Given the description of an element on the screen output the (x, y) to click on. 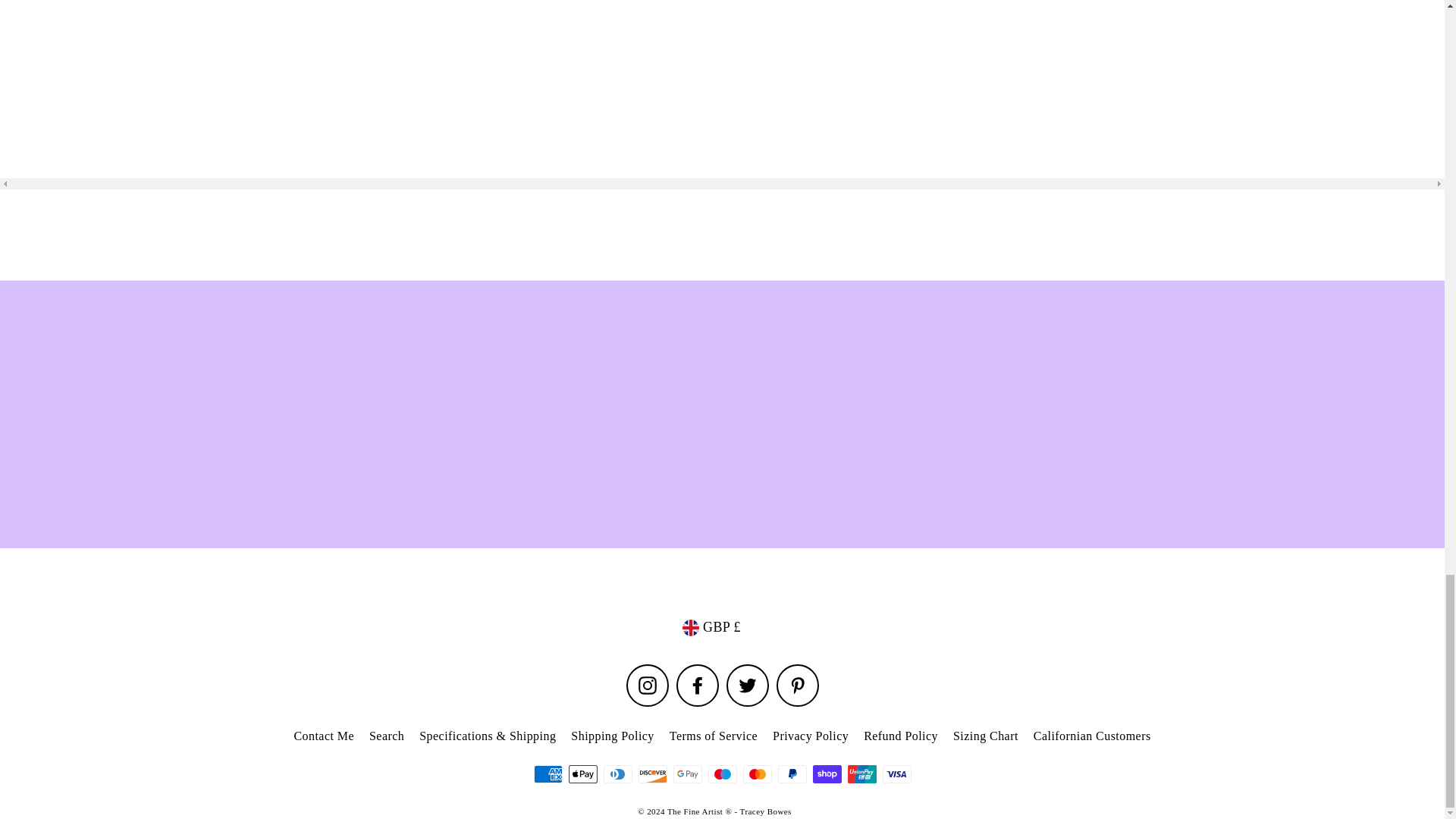
Mastercard (756, 773)
Google Pay (686, 773)
Apple Pay (582, 773)
Maestro (721, 773)
Shop Pay (826, 773)
Diners Club (617, 773)
Discover (652, 773)
PayPal (791, 773)
American Express (548, 773)
